Given the description of an element on the screen output the (x, y) to click on. 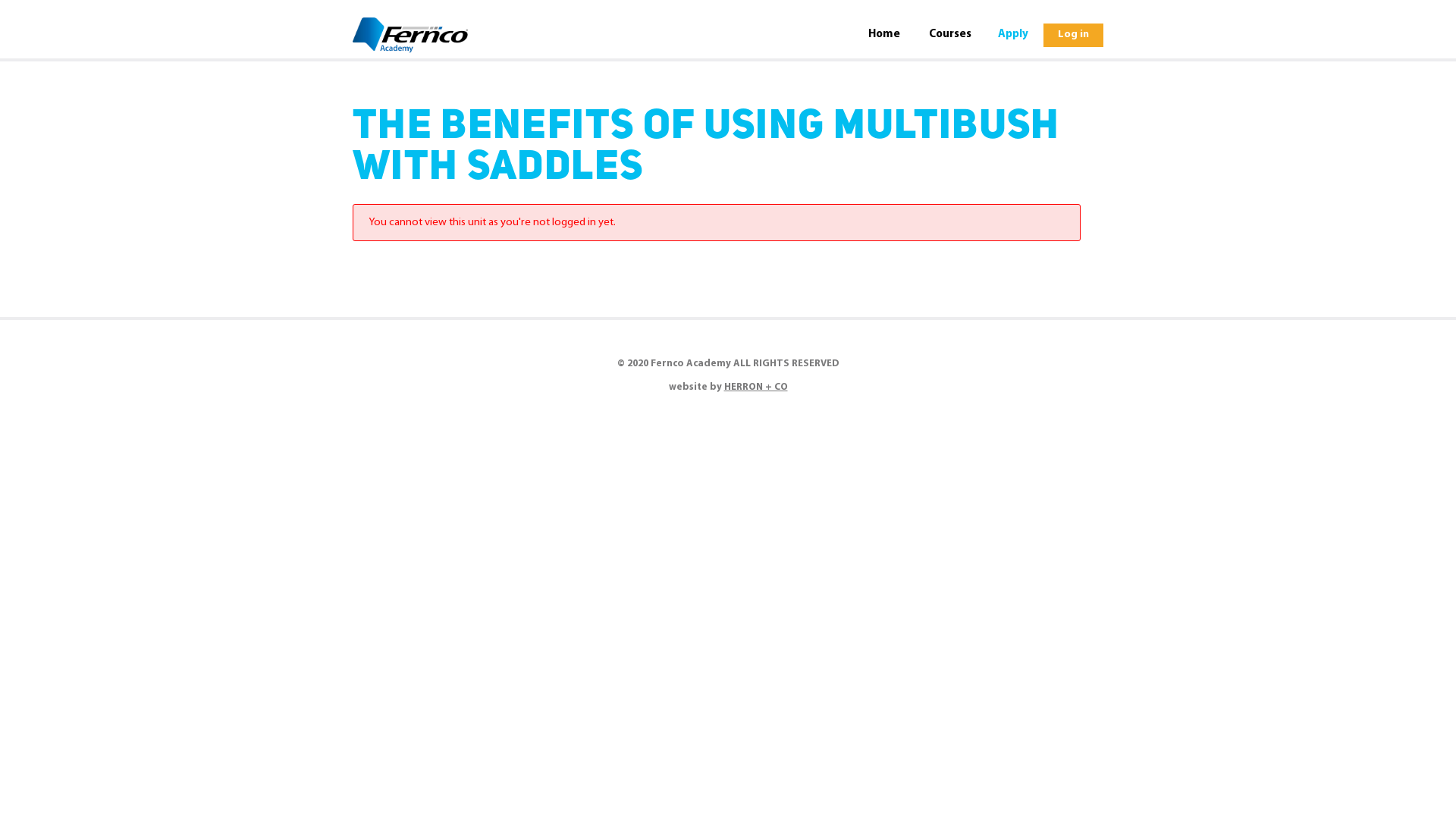
Home Element type: text (884, 34)
Apply Element type: text (1012, 34)
Log in Element type: text (1073, 35)
Courses Element type: text (949, 34)
Fernco Academy Element type: text (409, 35)
HERRON + CO Element type: text (755, 387)
